Given the description of an element on the screen output the (x, y) to click on. 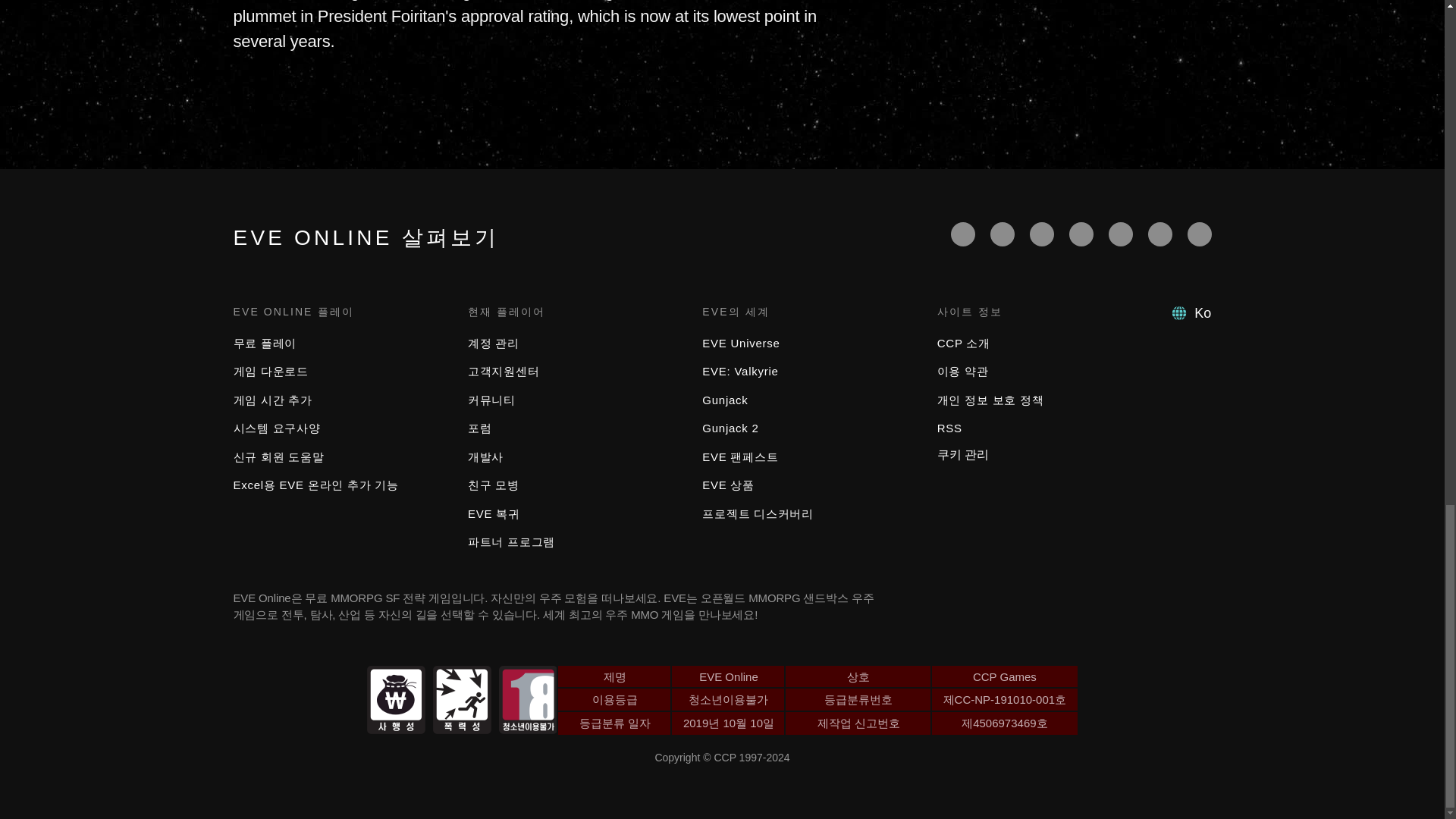
Twitch (1080, 233)
VK (1199, 233)
Twitter (1002, 233)
Discord (1120, 233)
Facebook (962, 233)
YouTube (1041, 233)
Instagram (1160, 233)
